Given the description of an element on the screen output the (x, y) to click on. 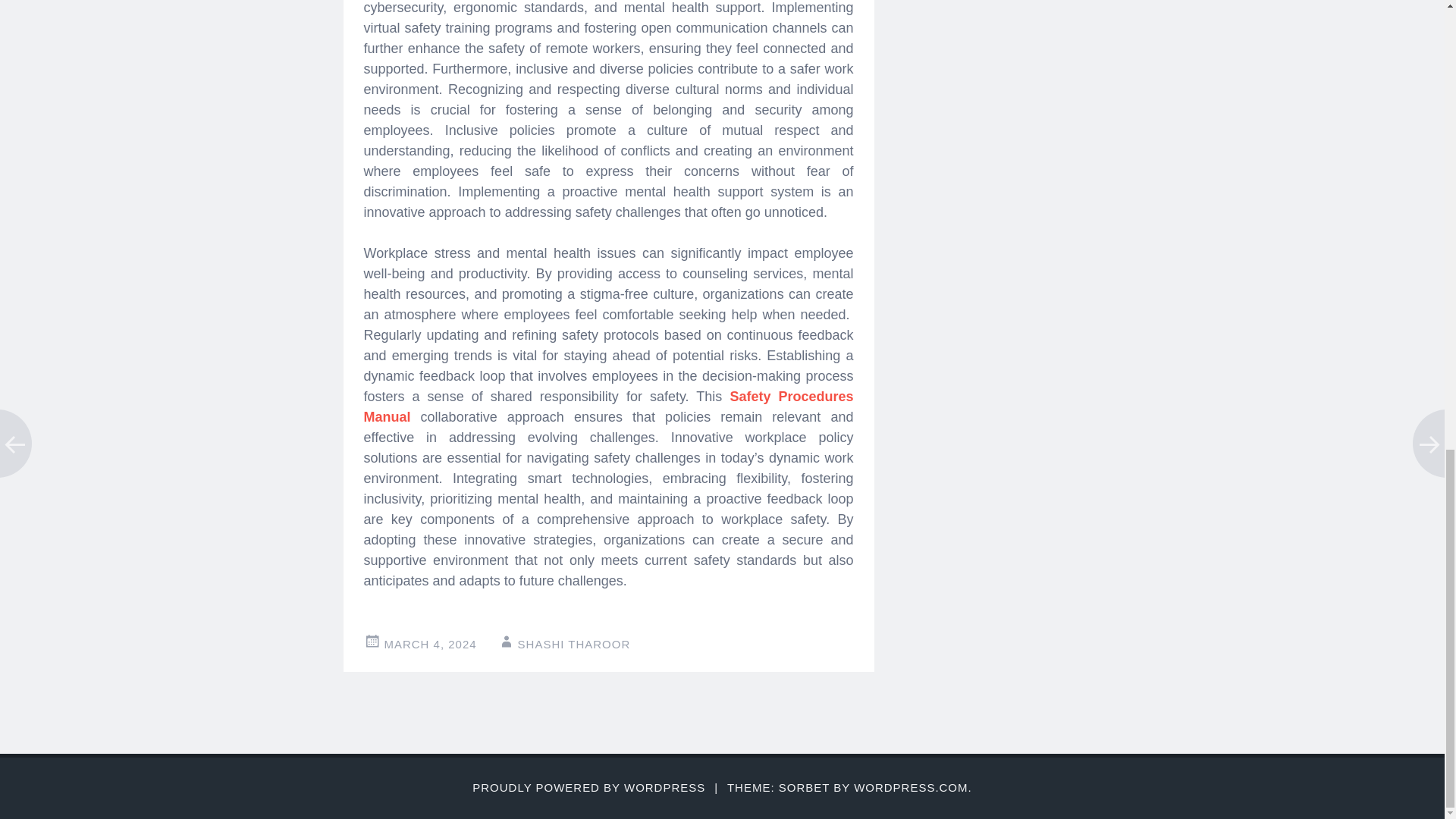
4:49 am (430, 644)
View all posts by Shashi Tharoor (574, 644)
MARCH 4, 2024 (430, 644)
Safety Procedures Manual (608, 407)
